Given the description of an element on the screen output the (x, y) to click on. 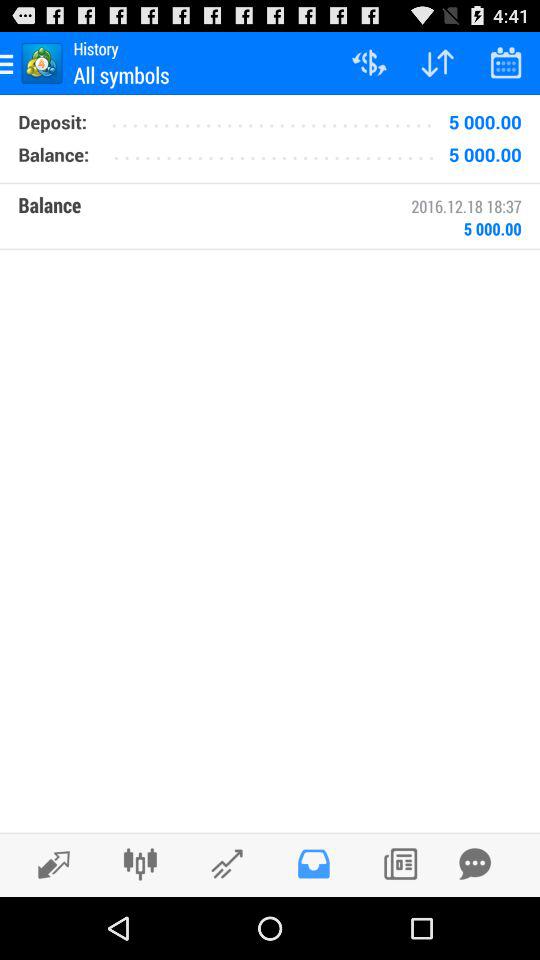
news feed (400, 863)
